Given the description of an element on the screen output the (x, y) to click on. 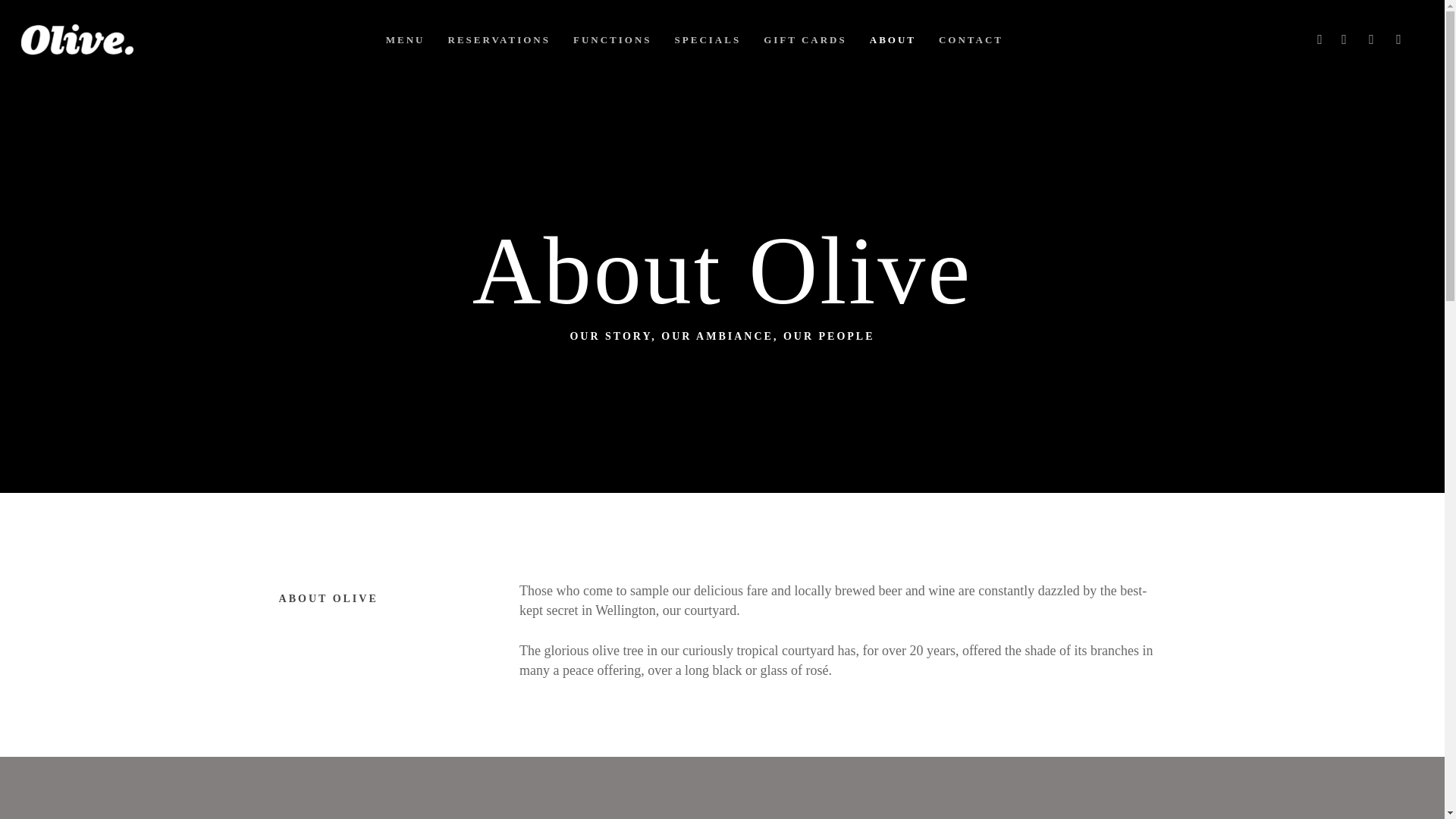
FUNCTIONS (612, 40)
Make A Reservation (546, 638)
Facebook (998, 638)
CONTACT (970, 40)
EMAIL (1399, 39)
PHONE (1372, 39)
Uncommon Web Design (445, 795)
SPECIALS (707, 40)
Instagram (999, 657)
MENU (405, 40)
GIFT CARDS (805, 40)
RESERVATIONS (499, 40)
Gift Cards (519, 677)
INSTAGRAM (1345, 39)
FACEBOOK (1321, 39)
